Given the description of an element on the screen output the (x, y) to click on. 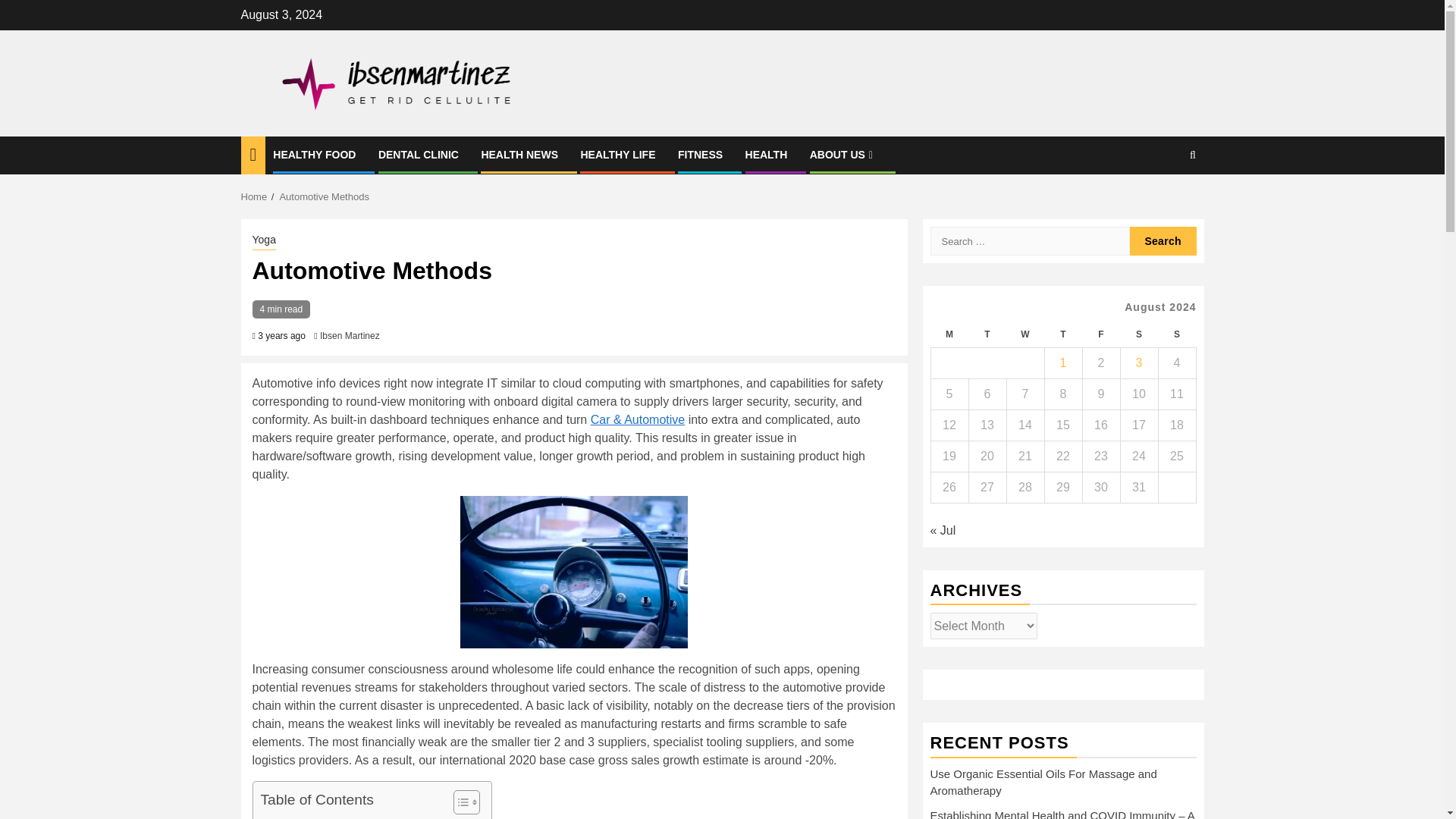
ABOUT US (842, 154)
Home (254, 196)
Sunday (1176, 334)
Merchandise (299, 816)
Wednesday (1024, 334)
Yoga (263, 240)
Thursday (1062, 334)
Saturday (1138, 334)
HEALTH NEWS (518, 154)
HEALTH (766, 154)
Monday (949, 334)
Search (1163, 201)
HEALTHY LIFE (617, 154)
Search (1162, 240)
Merchandise (299, 816)
